Given the description of an element on the screen output the (x, y) to click on. 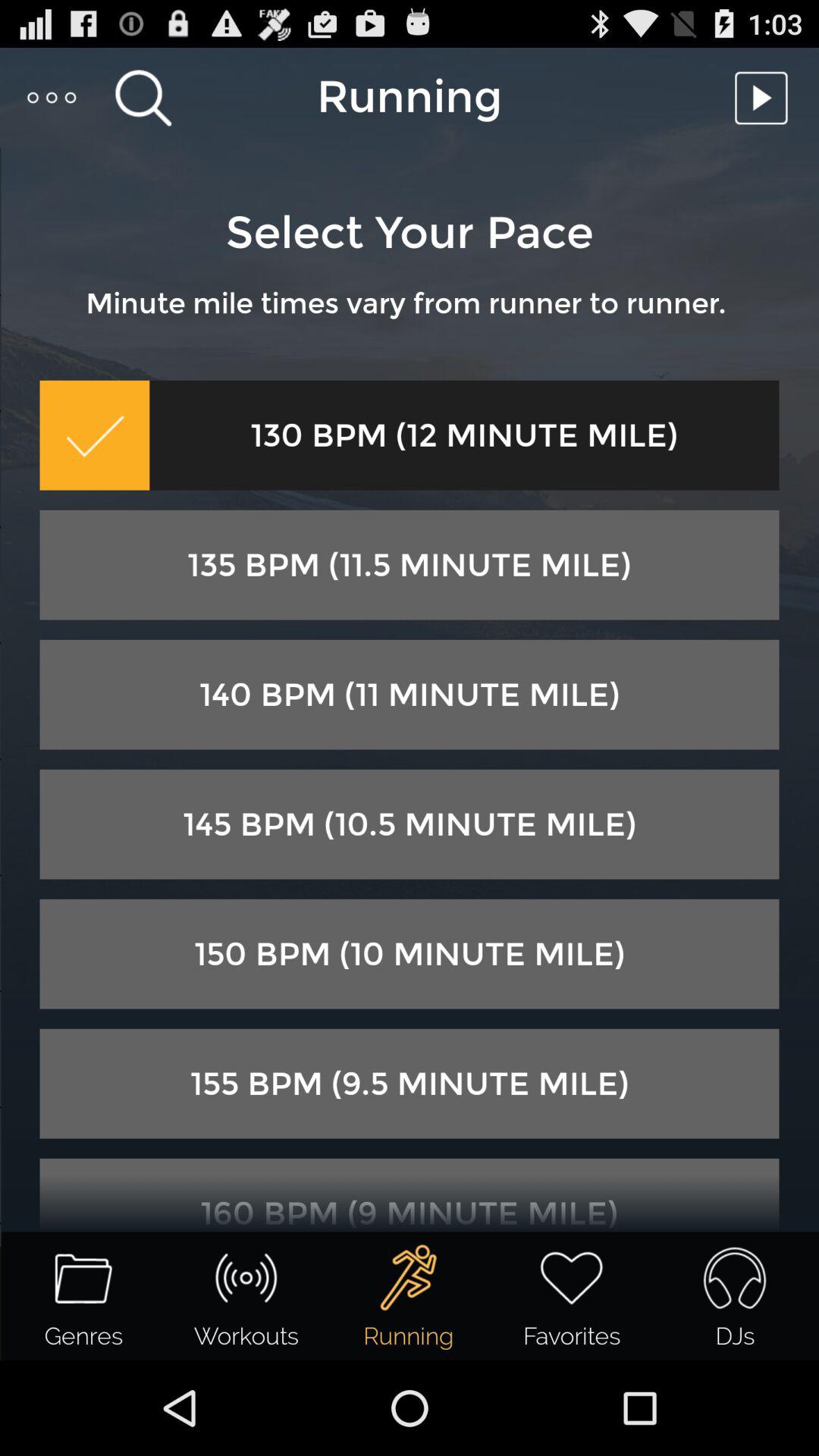
search bar (142, 97)
